Given the description of an element on the screen output the (x, y) to click on. 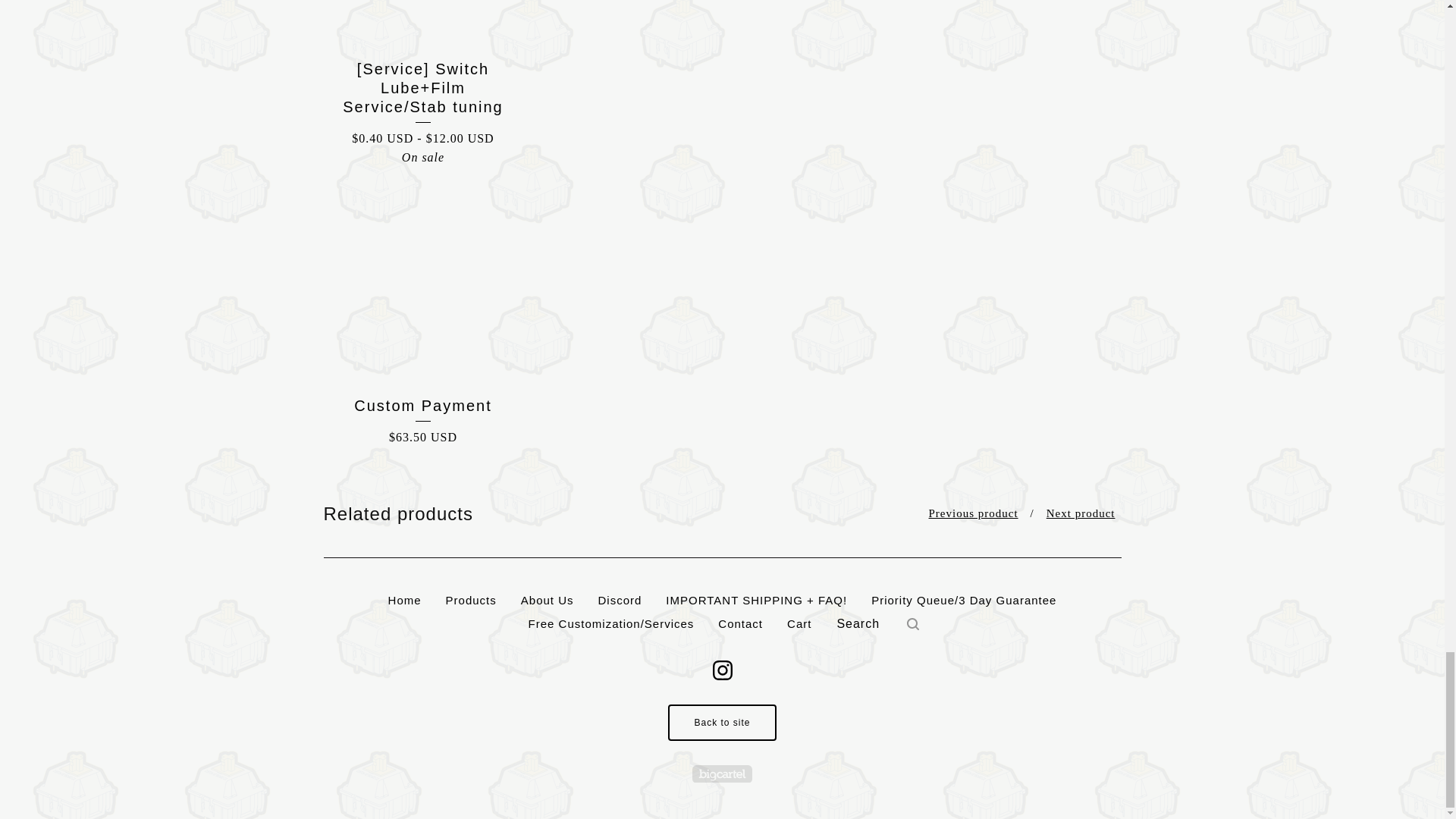
Discord (619, 599)
Products (470, 599)
View Next product (1081, 513)
View Previous product (974, 513)
Back to site (722, 722)
Contact (740, 623)
Powered by Big Cartel (722, 773)
About Us (547, 599)
Home (404, 599)
Cart (799, 623)
